Given the description of an element on the screen output the (x, y) to click on. 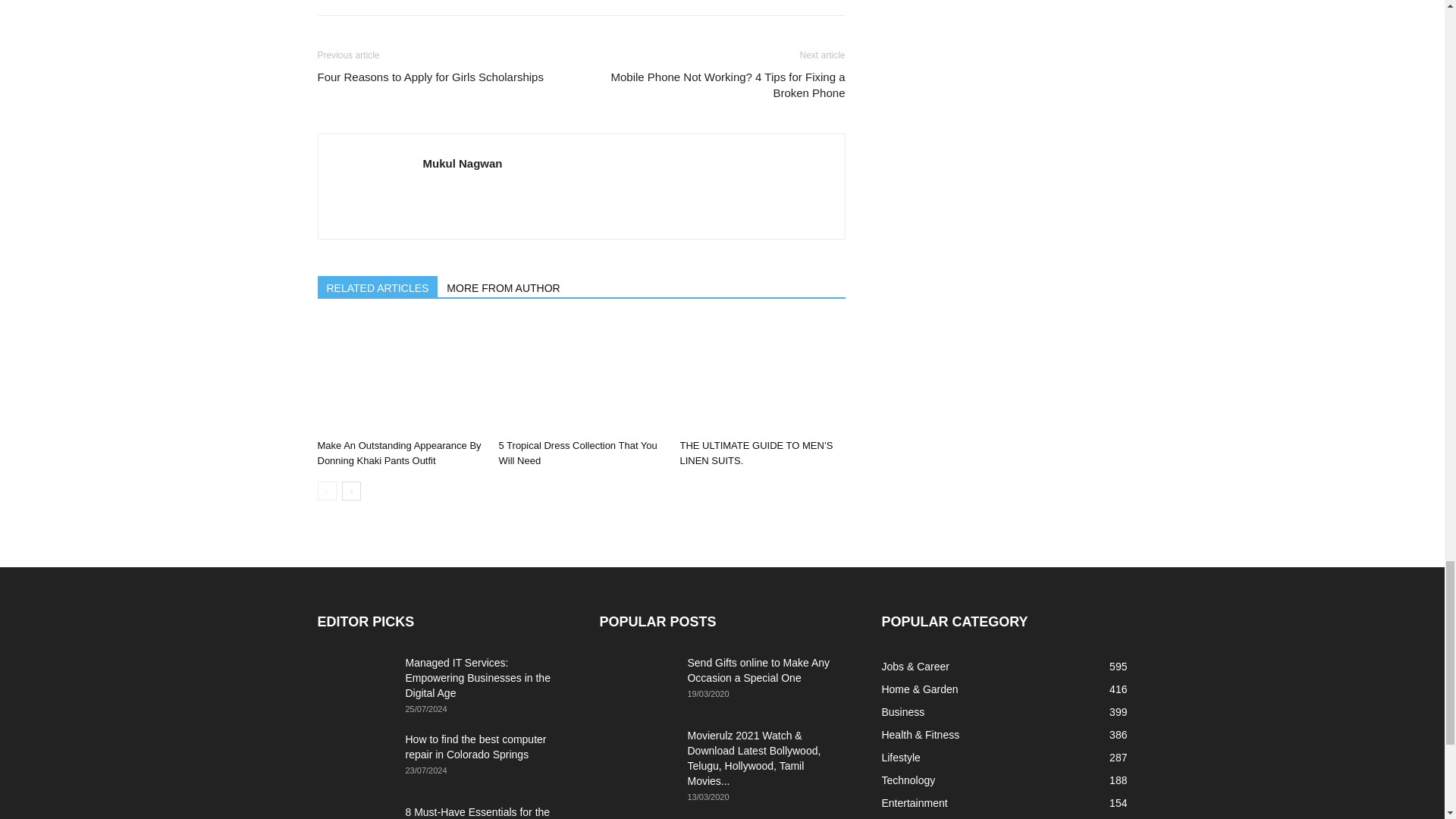
5 Tropical Dress Collection That You Will Need (580, 376)
Make An Outstanding Appearance By Donning Khaki Pants Outfit (398, 452)
Make An Outstanding Appearance By Donning Khaki Pants Outfit (399, 376)
